Given the description of an element on the screen output the (x, y) to click on. 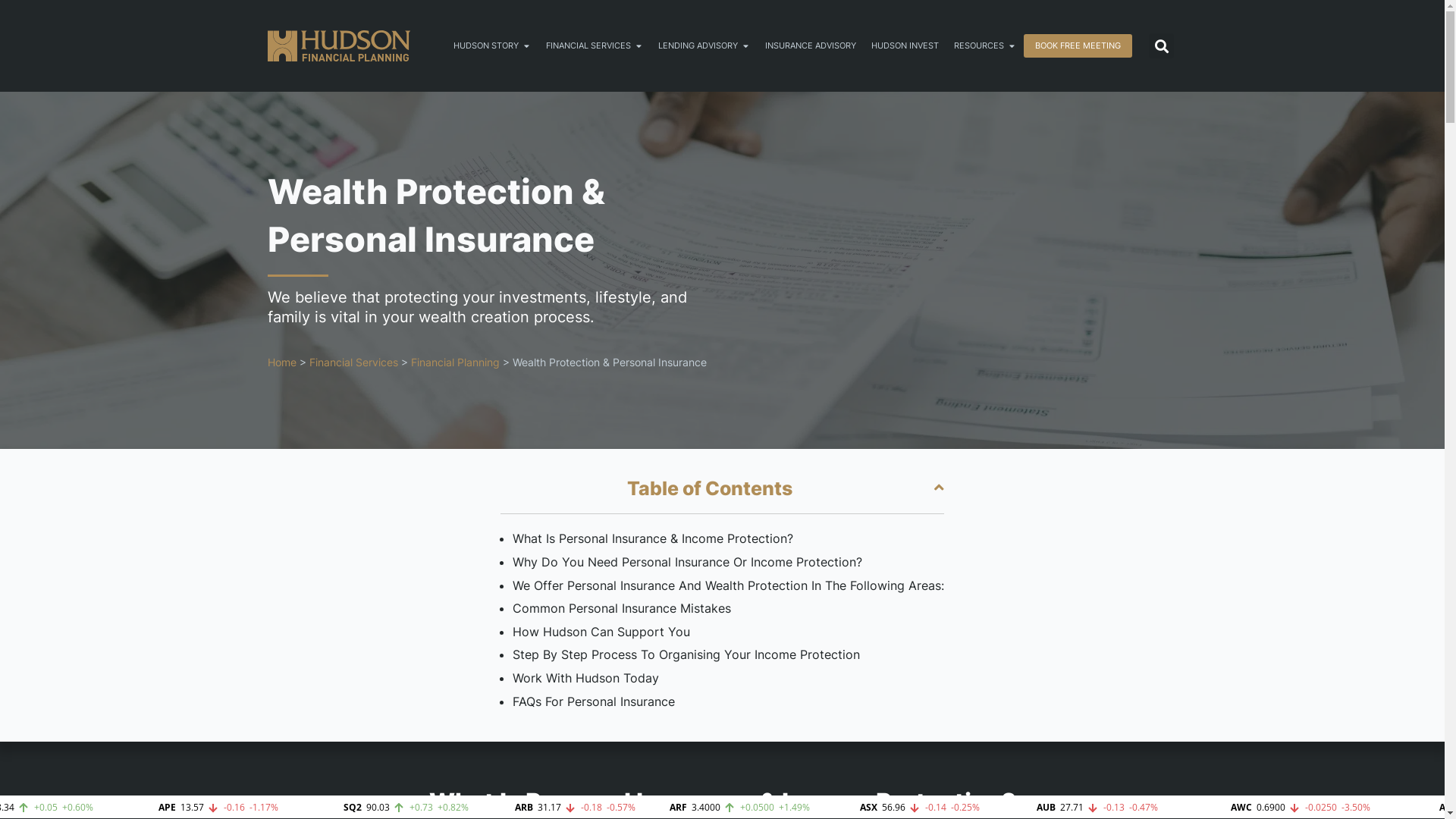
BOOK FREE MEETING Element type: text (1077, 45)
Financial Planning Element type: text (455, 362)
Step By Step Process To Organising Your Income Protection Element type: text (685, 654)
Home Element type: text (280, 362)
FAQs For Personal Insurance Element type: text (593, 701)
Why Do You Need Personal Insurance Or Income Protection? Element type: text (687, 561)
Work With Hudson Today Element type: text (585, 677)
Financial Services Element type: text (353, 362)
What Is Personal Insurance & Income Protection? Element type: text (652, 538)
Common Personal Insurance Mistakes Element type: text (621, 607)
HUDSON INVEST Element type: text (904, 46)
INSURANCE ADVISORY Element type: text (810, 46)
How Hudson Can Support You Element type: text (601, 631)
